Given the description of an element on the screen output the (x, y) to click on. 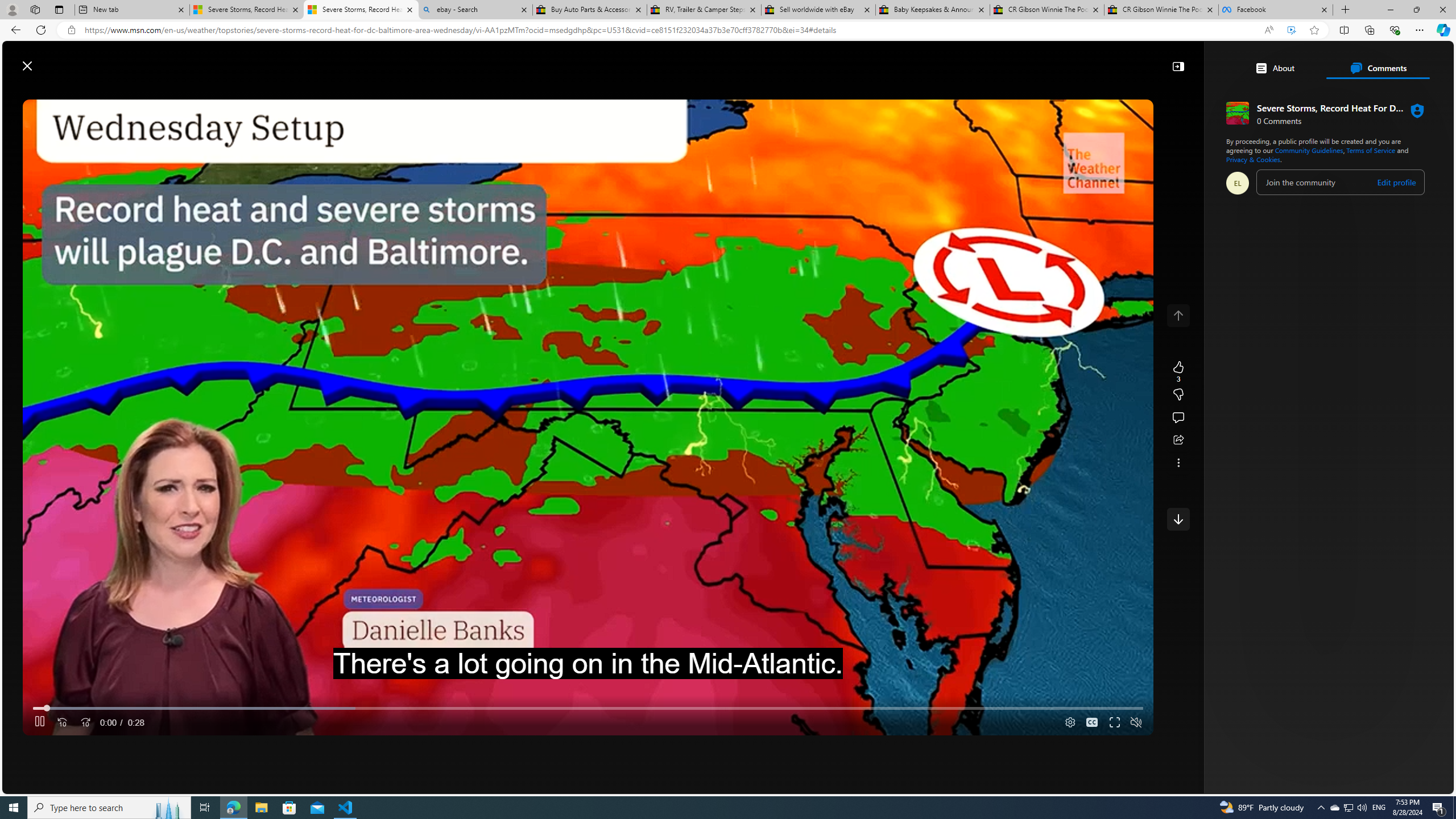
ABC News (1170, 415)
Quality Settings (1069, 723)
Seek Forward (85, 723)
Pause (39, 723)
Enhance video (1291, 29)
Fullscreen (1114, 723)
Reuters (1170, 366)
Baby Keepsakes & Announcements for sale | eBay (932, 9)
Address and search bar (669, 29)
See more (1178, 462)
